Given the description of an element on the screen output the (x, y) to click on. 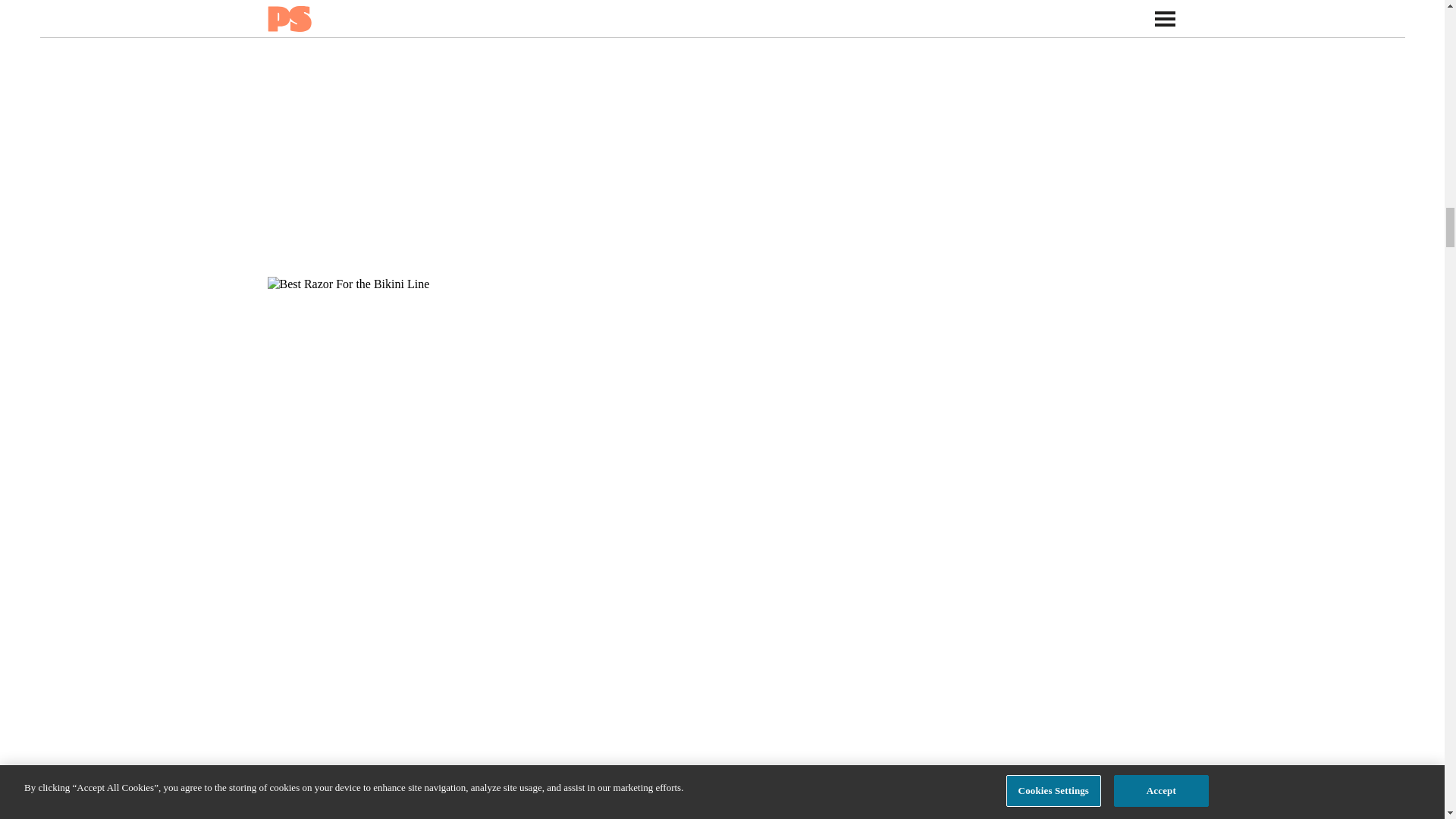
target.com (283, 808)
